Given the description of an element on the screen output the (x, y) to click on. 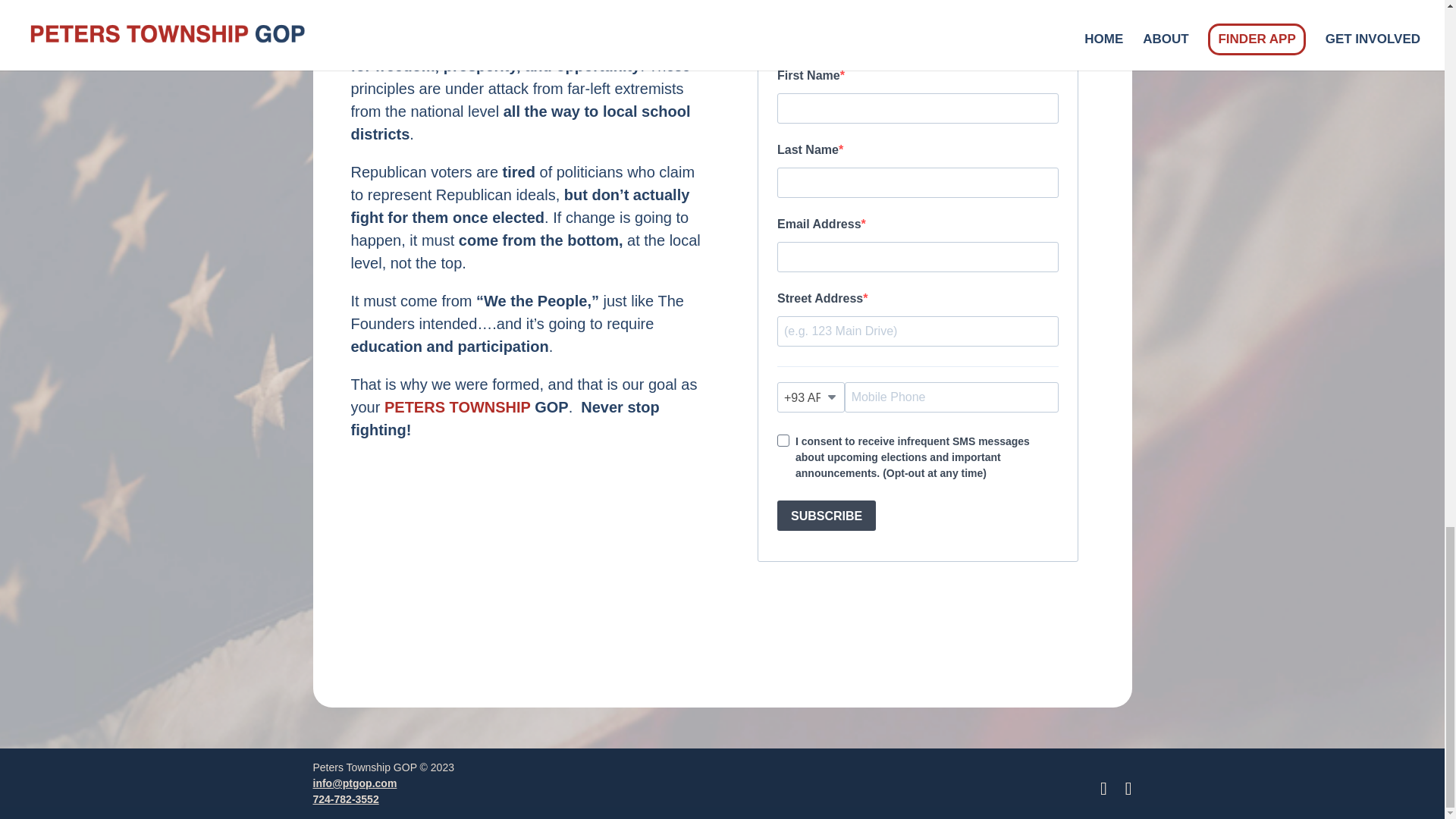
724-782-3552 (345, 799)
